Given the description of an element on the screen output the (x, y) to click on. 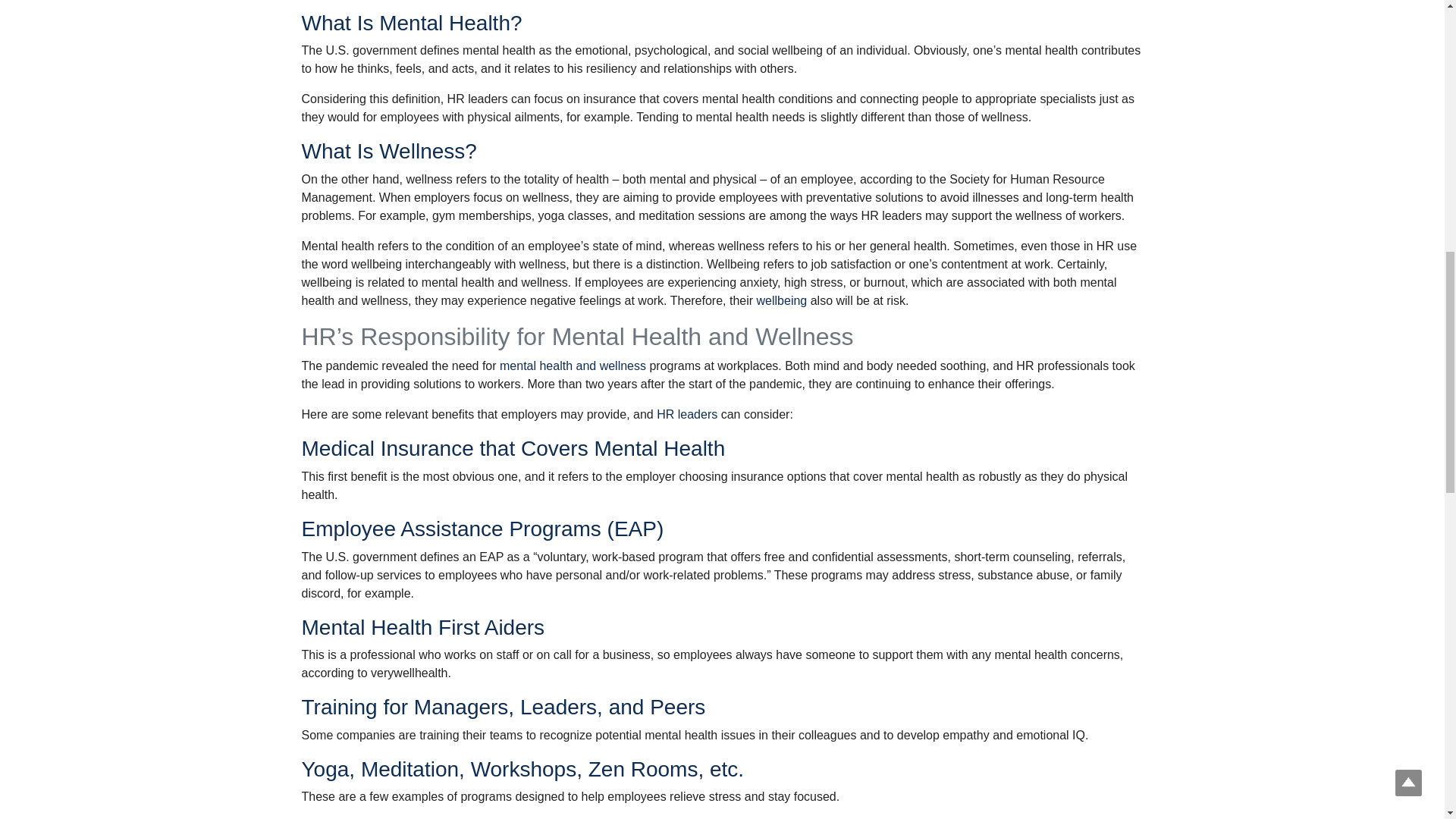
wellbeing (782, 300)
HR leaders (686, 413)
mental health and wellness (572, 365)
